Given the description of an element on the screen output the (x, y) to click on. 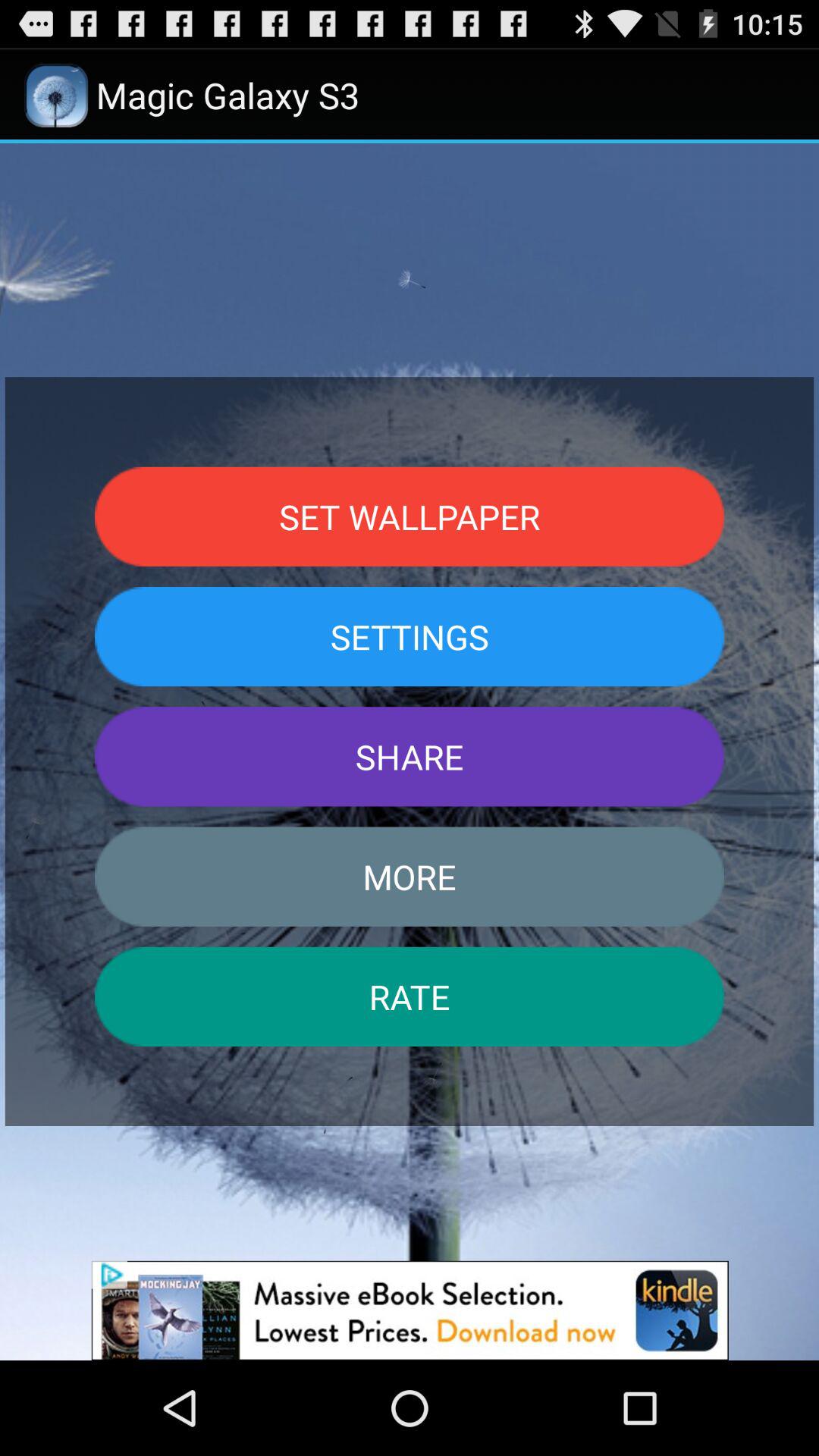
scroll until settings icon (409, 636)
